Given the description of an element on the screen output the (x, y) to click on. 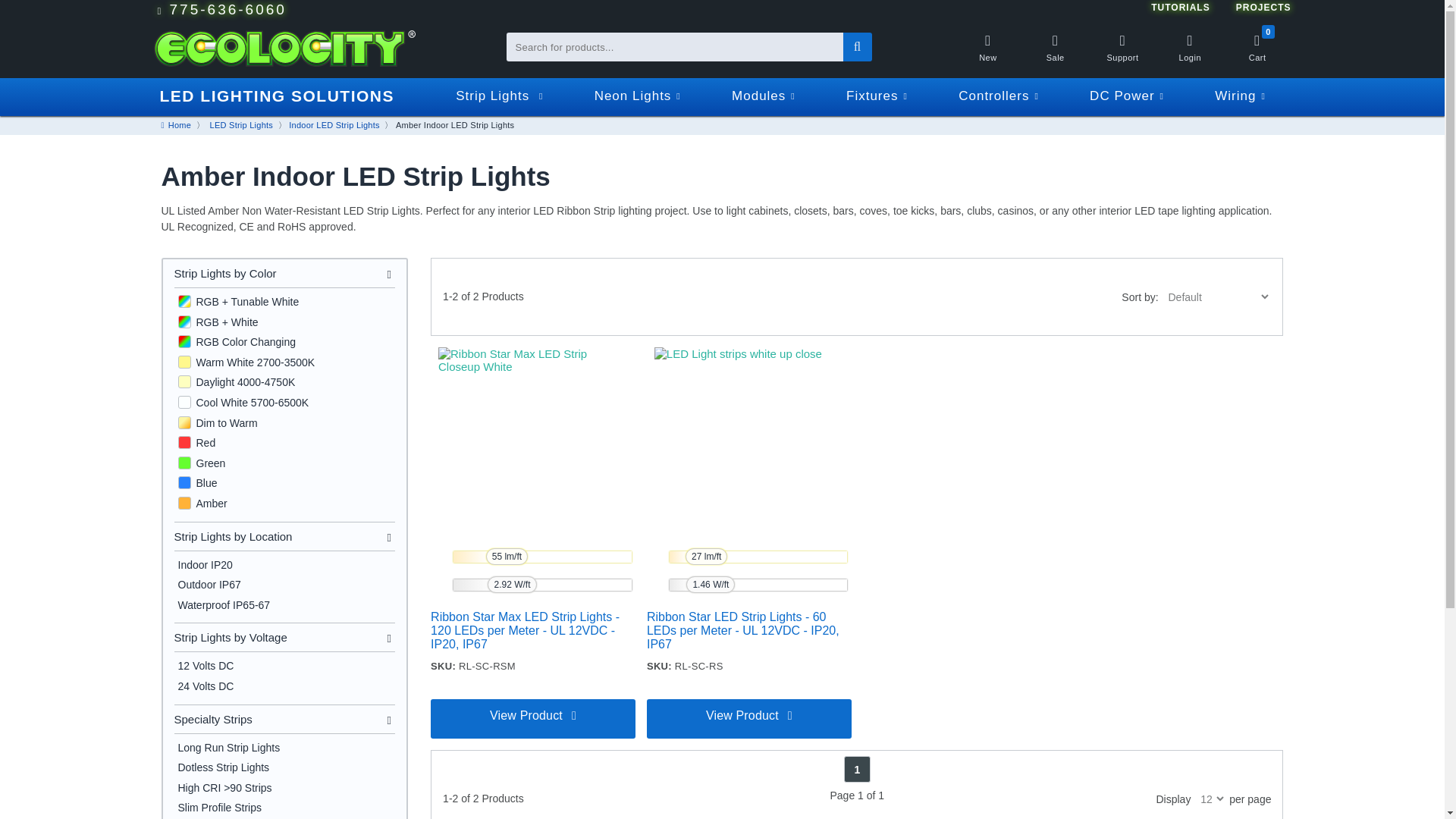
Brightness (506, 556)
Neon Lights (637, 95)
Watts (511, 584)
Login (1190, 54)
Strip Lights (499, 95)
Brightness (705, 556)
Sale (1055, 54)
New (987, 54)
775-636-6060 (285, 11)
Cart (1257, 54)
Support (1122, 54)
Watts (710, 584)
